Given the description of an element on the screen output the (x, y) to click on. 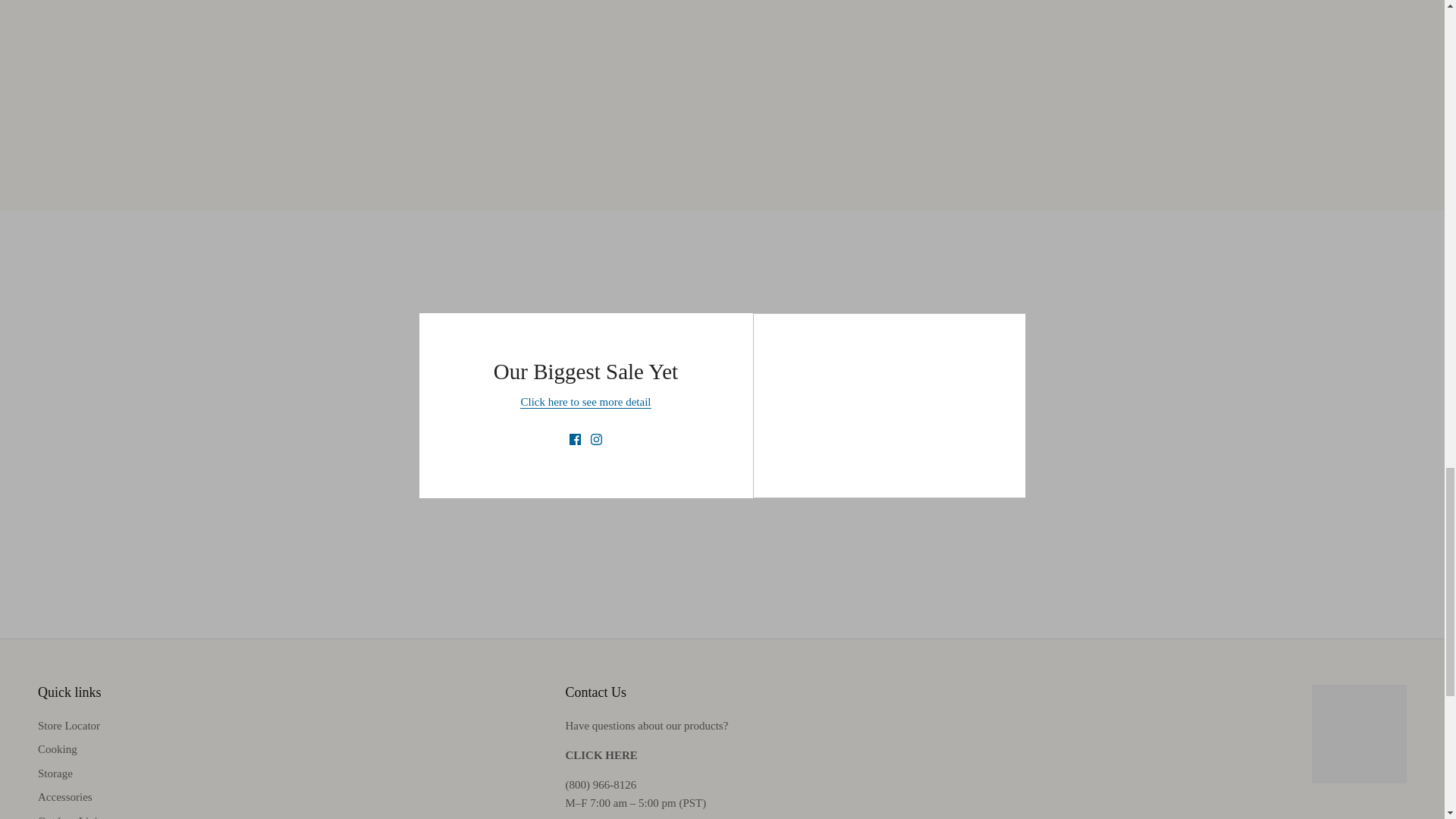
Contact (600, 755)
